Given the description of an element on the screen output the (x, y) to click on. 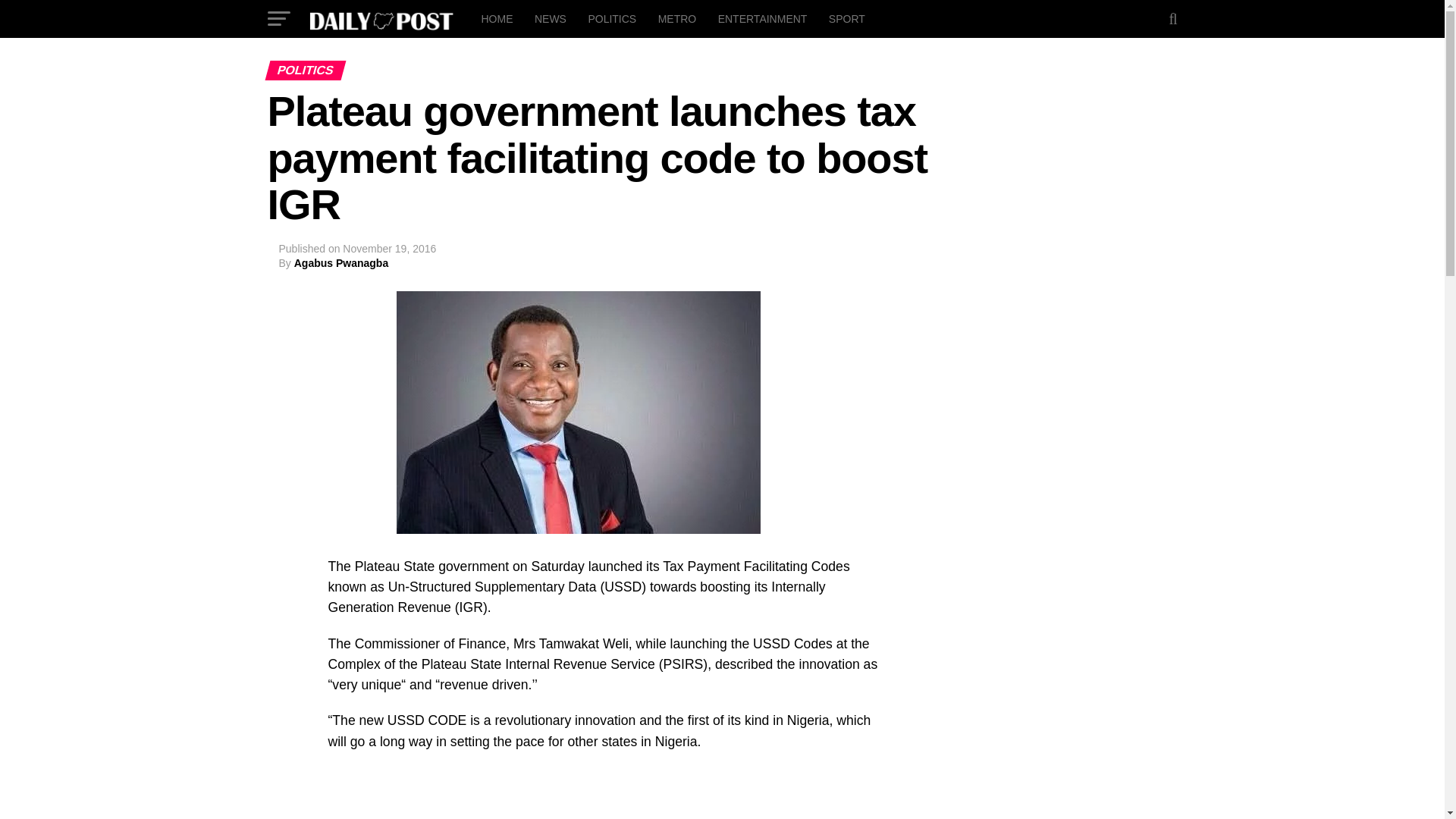
Agabus Pwanagba (341, 263)
NEWS (550, 18)
METRO (677, 18)
ENTERTAINMENT (762, 18)
SPORT (847, 18)
HOME (496, 18)
Posts by Agabus Pwanagba (341, 263)
POLITICS (611, 18)
